Given the description of an element on the screen output the (x, y) to click on. 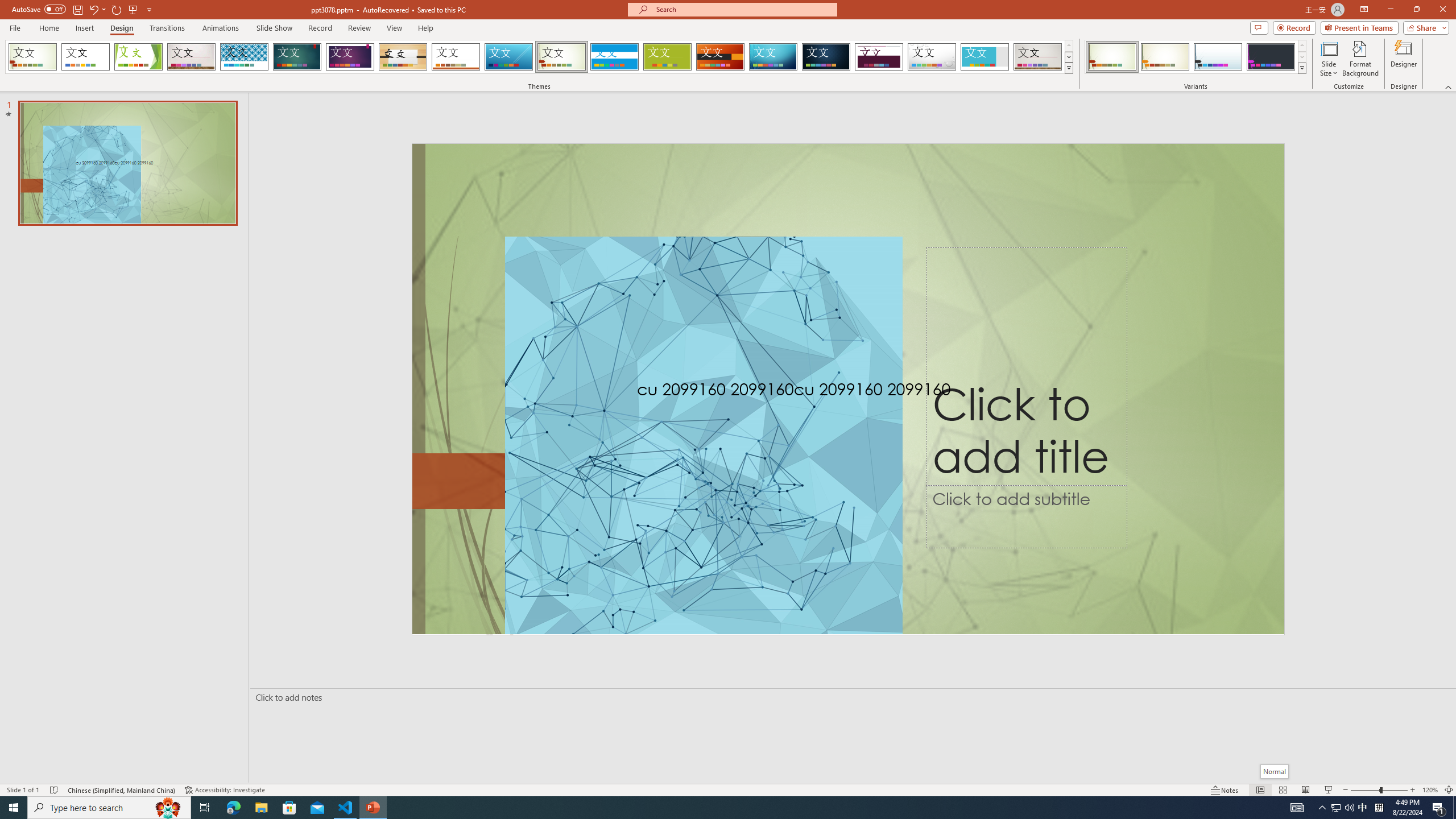
Ion Loading Preview... (296, 56)
Organic Loading Preview... (403, 56)
Frame Loading Preview... (984, 56)
